Given the description of an element on the screen output the (x, y) to click on. 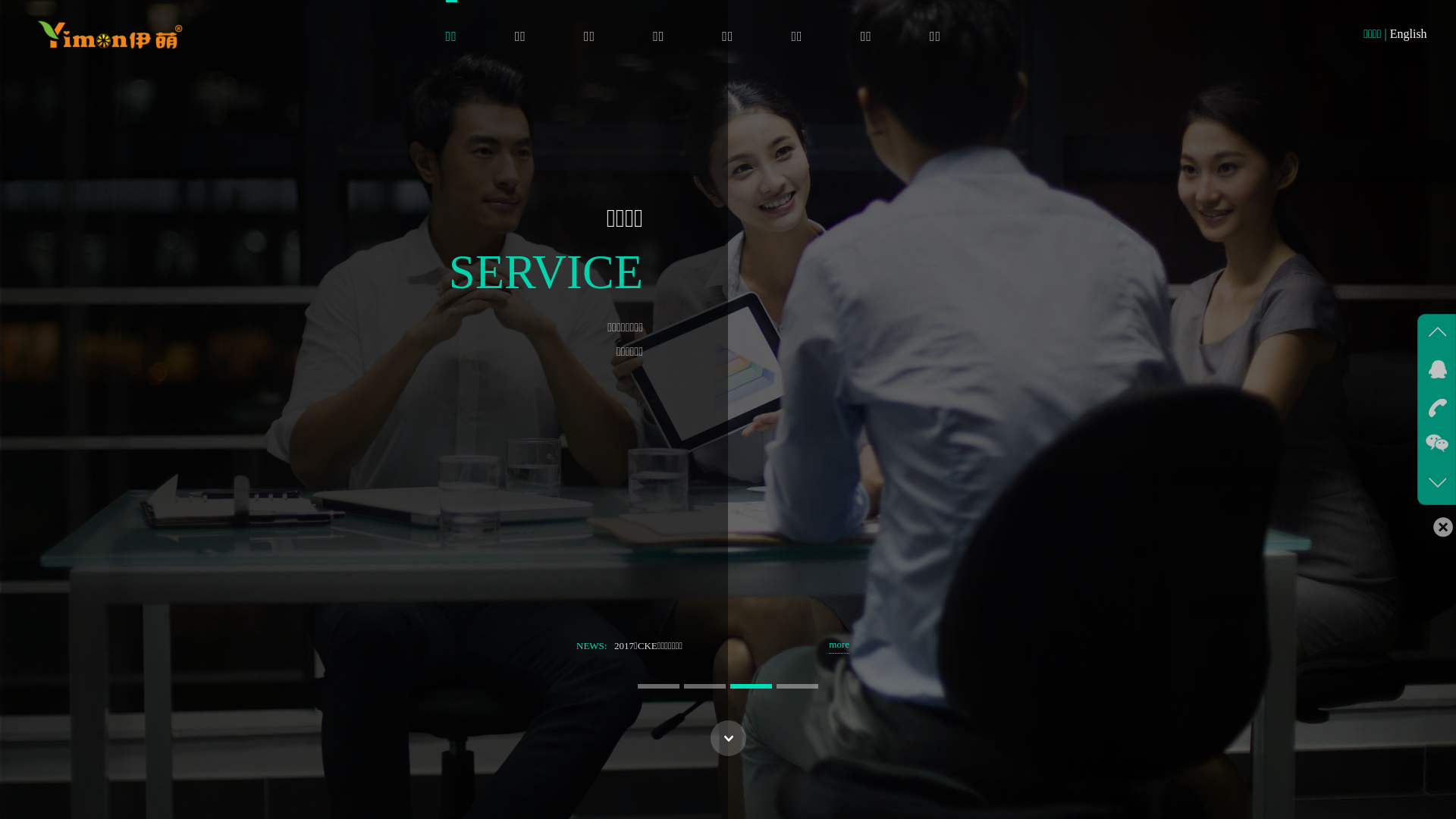
0 Element type: text (716, 619)
0 Element type: text (716, 593)
more Element type: text (838, 645)
PARTNER Element type: text (727, 271)
0 Element type: text (716, 606)
English Element type: text (1408, 33)
